Given the description of an element on the screen output the (x, y) to click on. 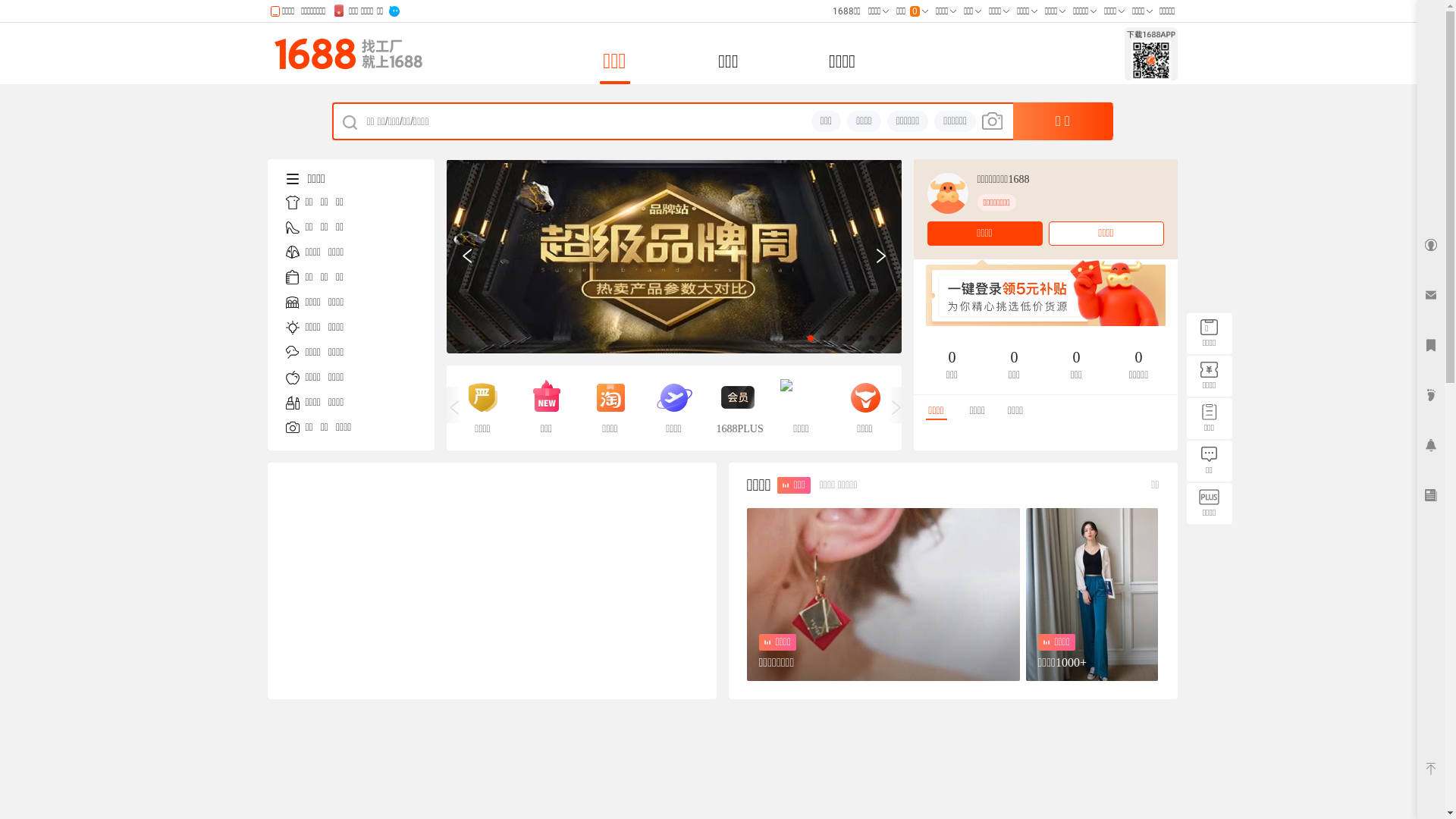
1688PLUS Element type: text (736, 407)
